Given the description of an element on the screen output the (x, y) to click on. 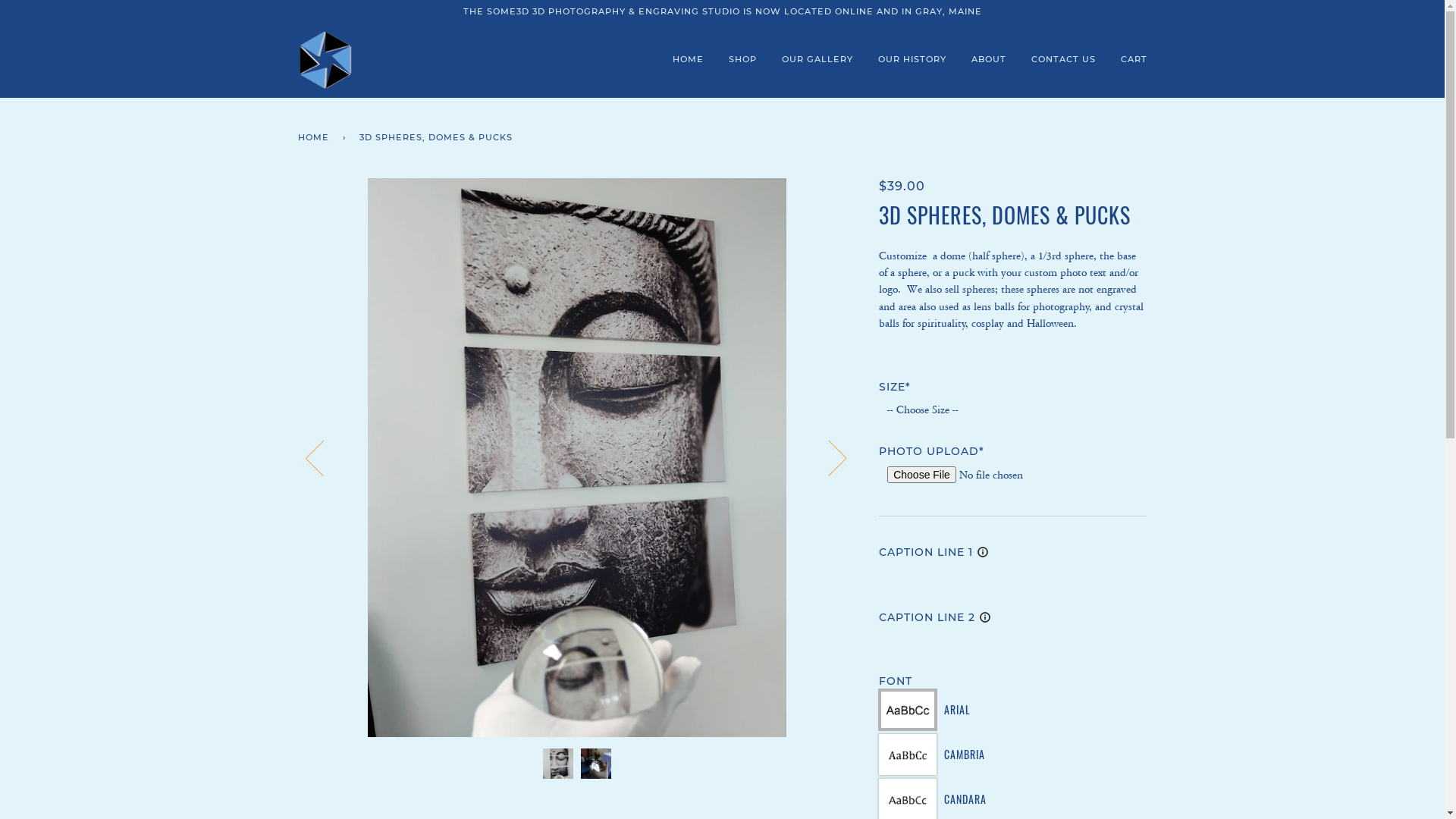
HOME Element type: text (686, 59)
ABOUT Element type: text (987, 59)
OUR GALLERY Element type: text (816, 59)
CONTACT US Element type: text (1063, 59)
SHOP Element type: text (742, 59)
CART Element type: text (1133, 59)
Previous Element type: text (322, 457)
HOME Element type: text (315, 137)
OUR HISTORY Element type: text (912, 59)
Next Element type: text (828, 457)
